Given the description of an element on the screen output the (x, y) to click on. 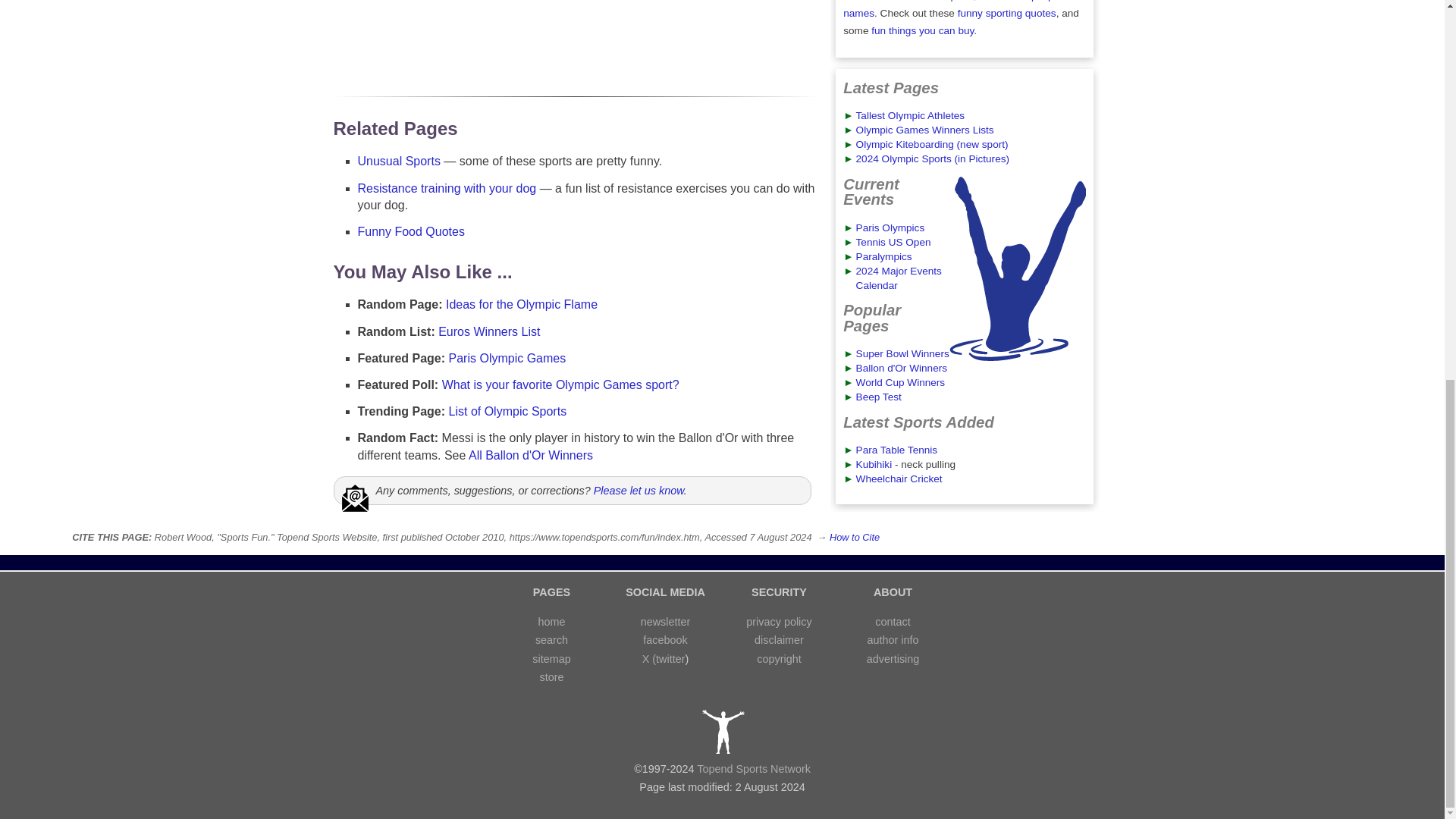
Please let us know (639, 490)
Euros Winners List (489, 331)
List of Olympic Sports (507, 410)
All Ballon d'Or Winners (530, 454)
What is your favorite Olympic Games sport? (560, 384)
Ideas for the Olympic Flame (520, 304)
Unusual Sports (399, 160)
Paris Olympic Games (507, 358)
Funny Food Quotes (411, 231)
Resistance training with your dog (447, 187)
